Given the description of an element on the screen output the (x, y) to click on. 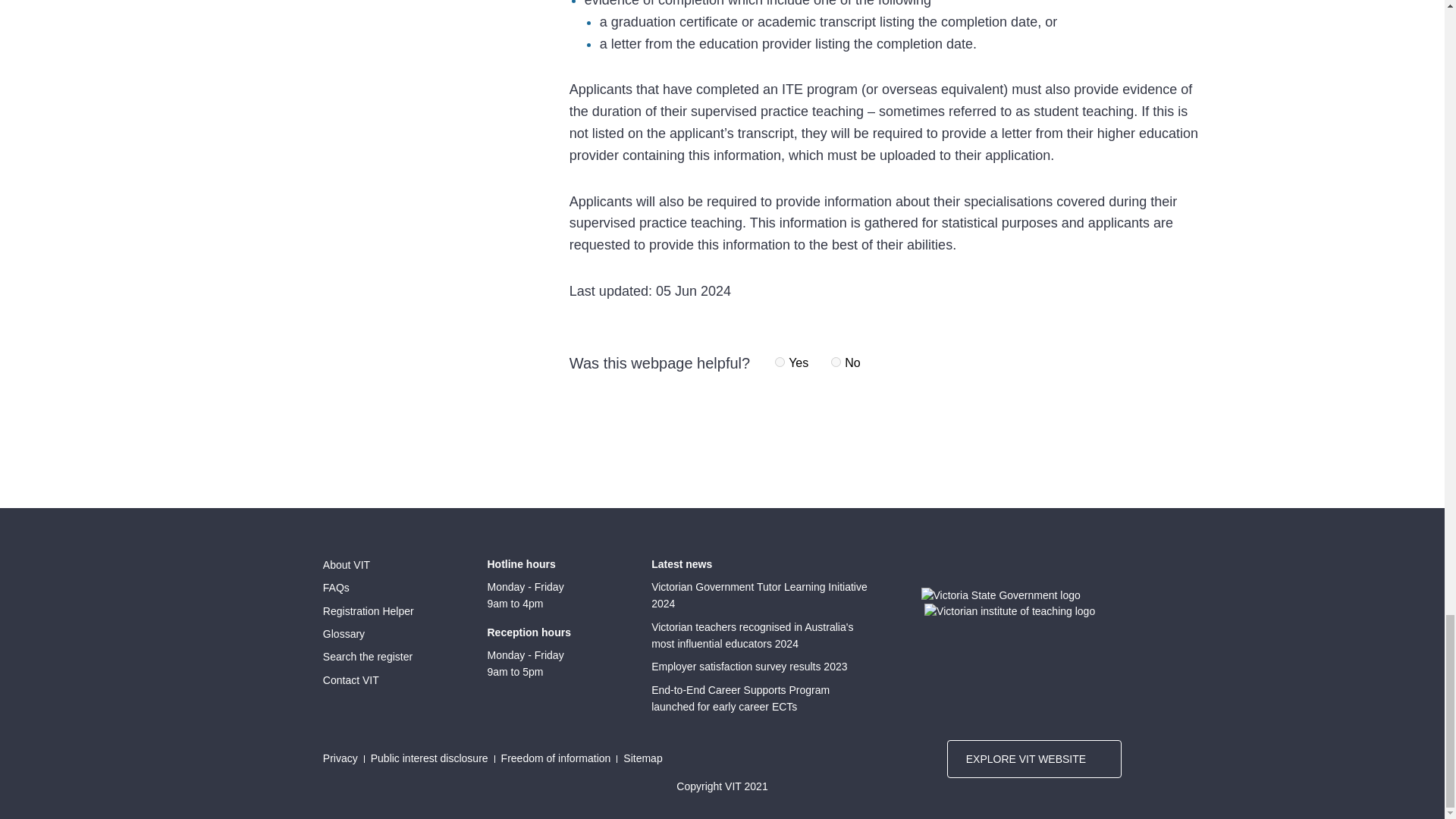
yes (779, 361)
no (836, 361)
